Given the description of an element on the screen output the (x, y) to click on. 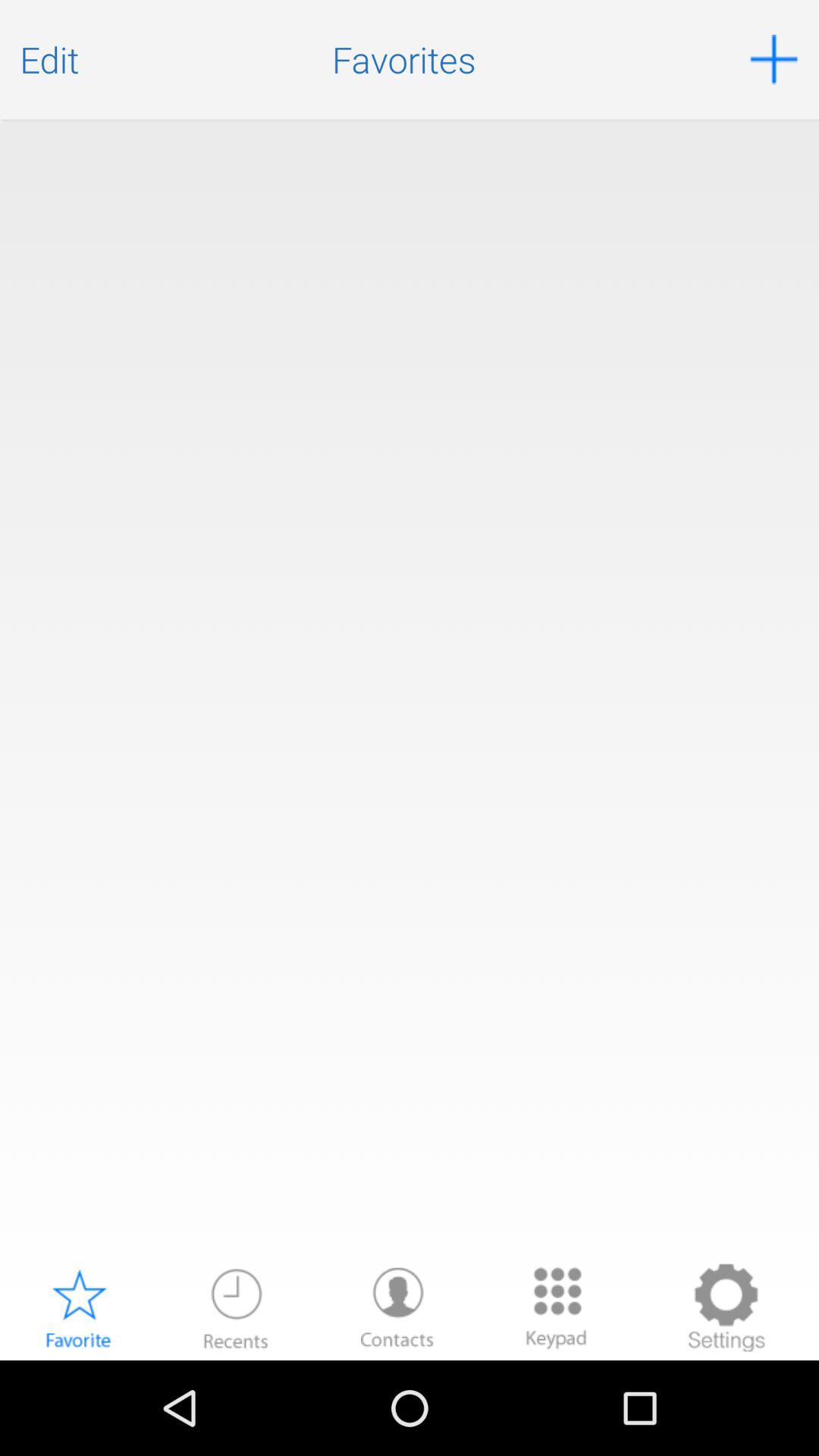
view contacts (397, 1307)
